Given the description of an element on the screen output the (x, y) to click on. 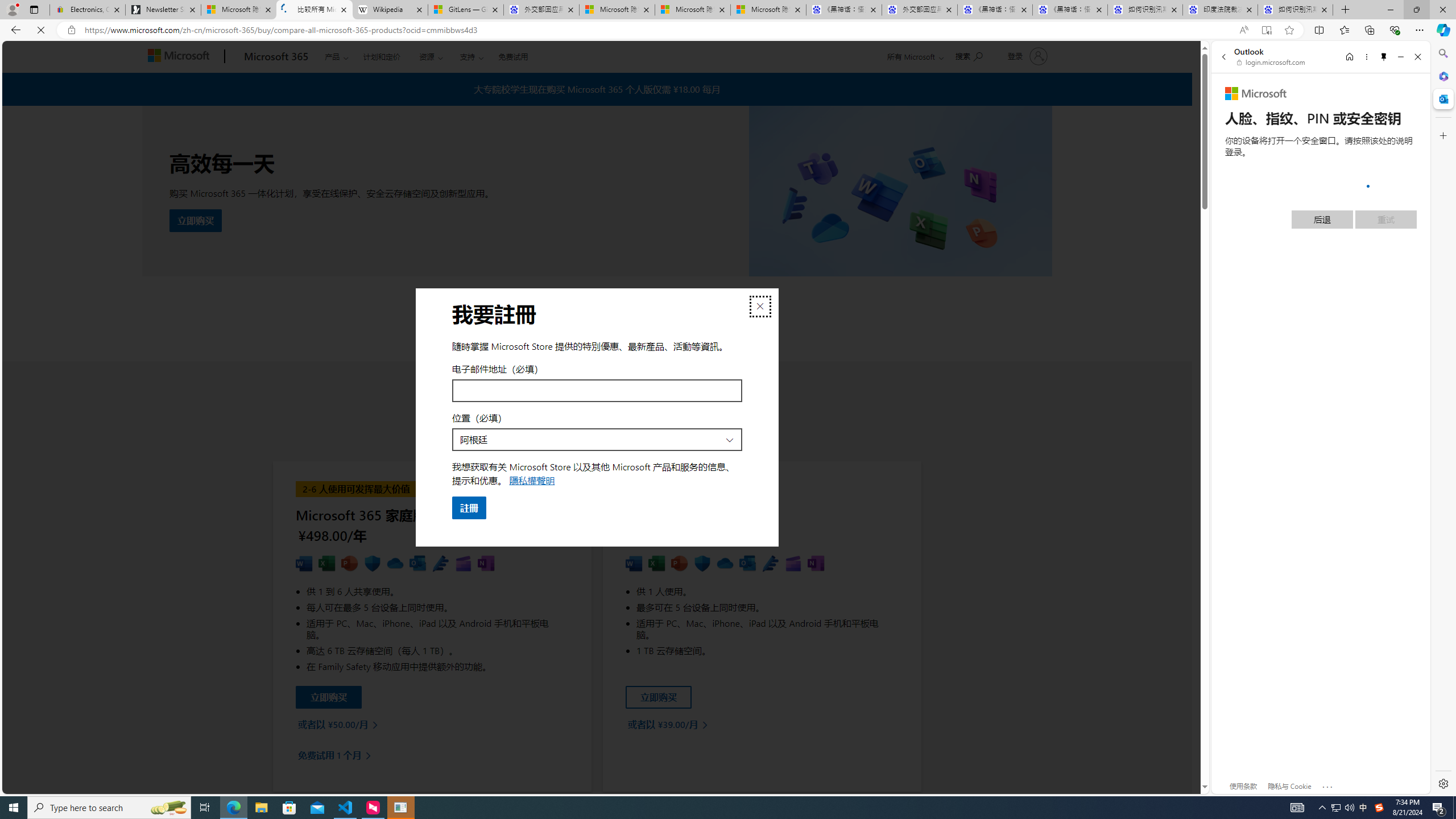
Newsletter Sign Up (162, 9)
Home (1348, 56)
